Given the description of an element on the screen output the (x, y) to click on. 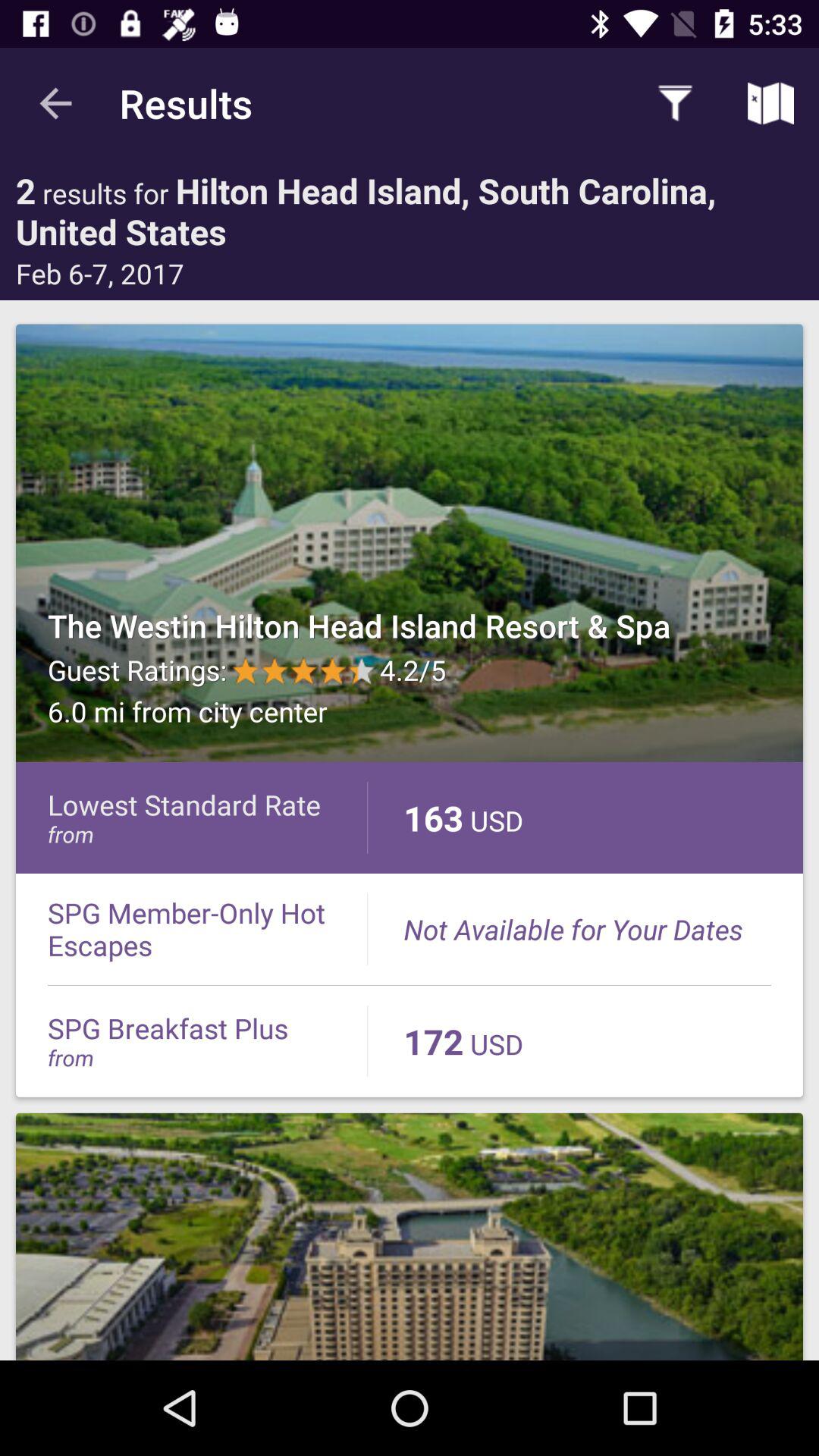
select the item next to the results (675, 103)
